Given the description of an element on the screen output the (x, y) to click on. 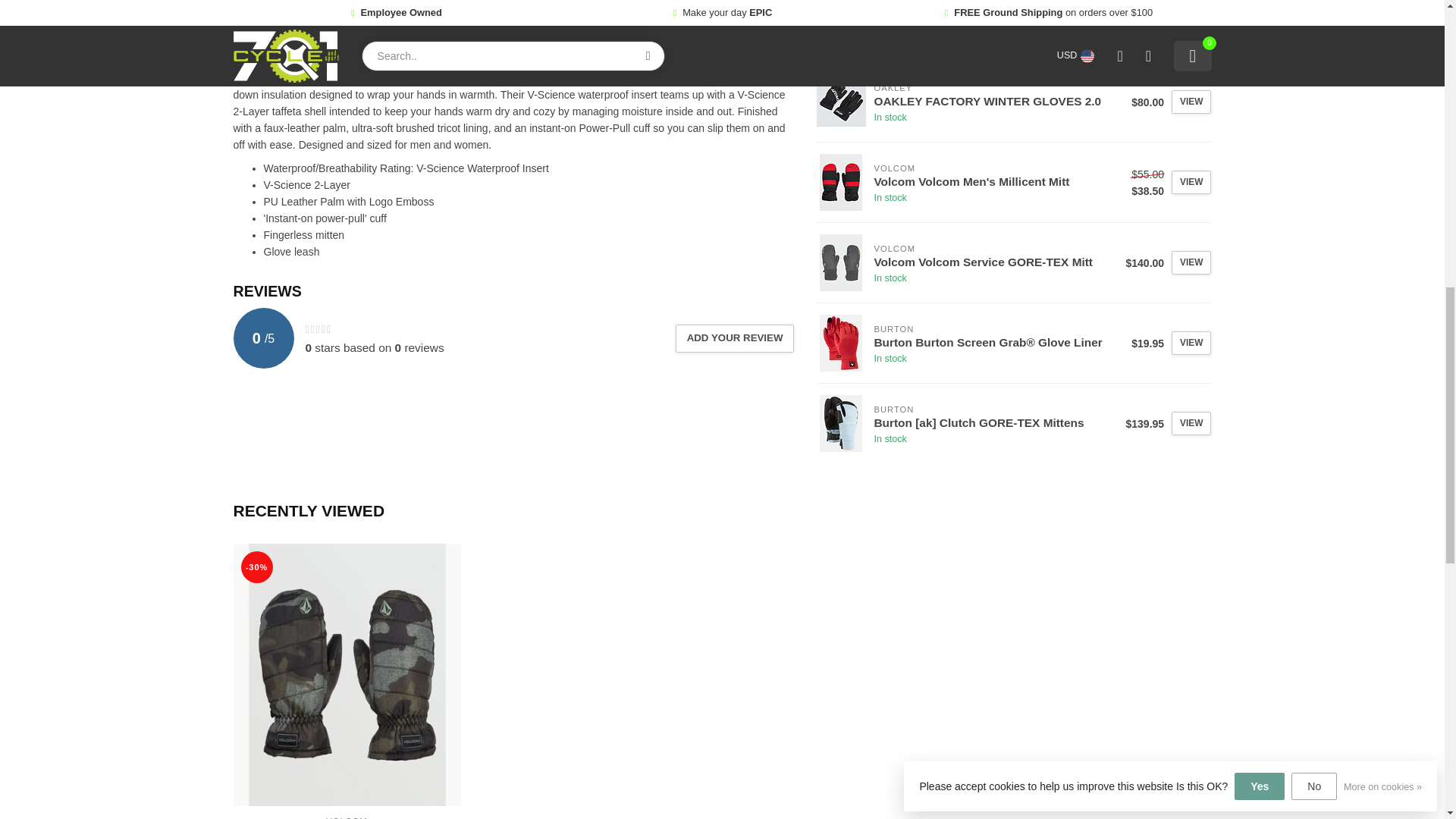
Volcom Volcom Men's Millicent Mitt (841, 181)
Volcom Volcom Puff Puff Mitt (346, 674)
OAKLEY FACTORY WINTER GLOVES 2.0 (841, 101)
Volcom Volcom Service GORE-TEX Mitt (841, 262)
